Given the description of an element on the screen output the (x, y) to click on. 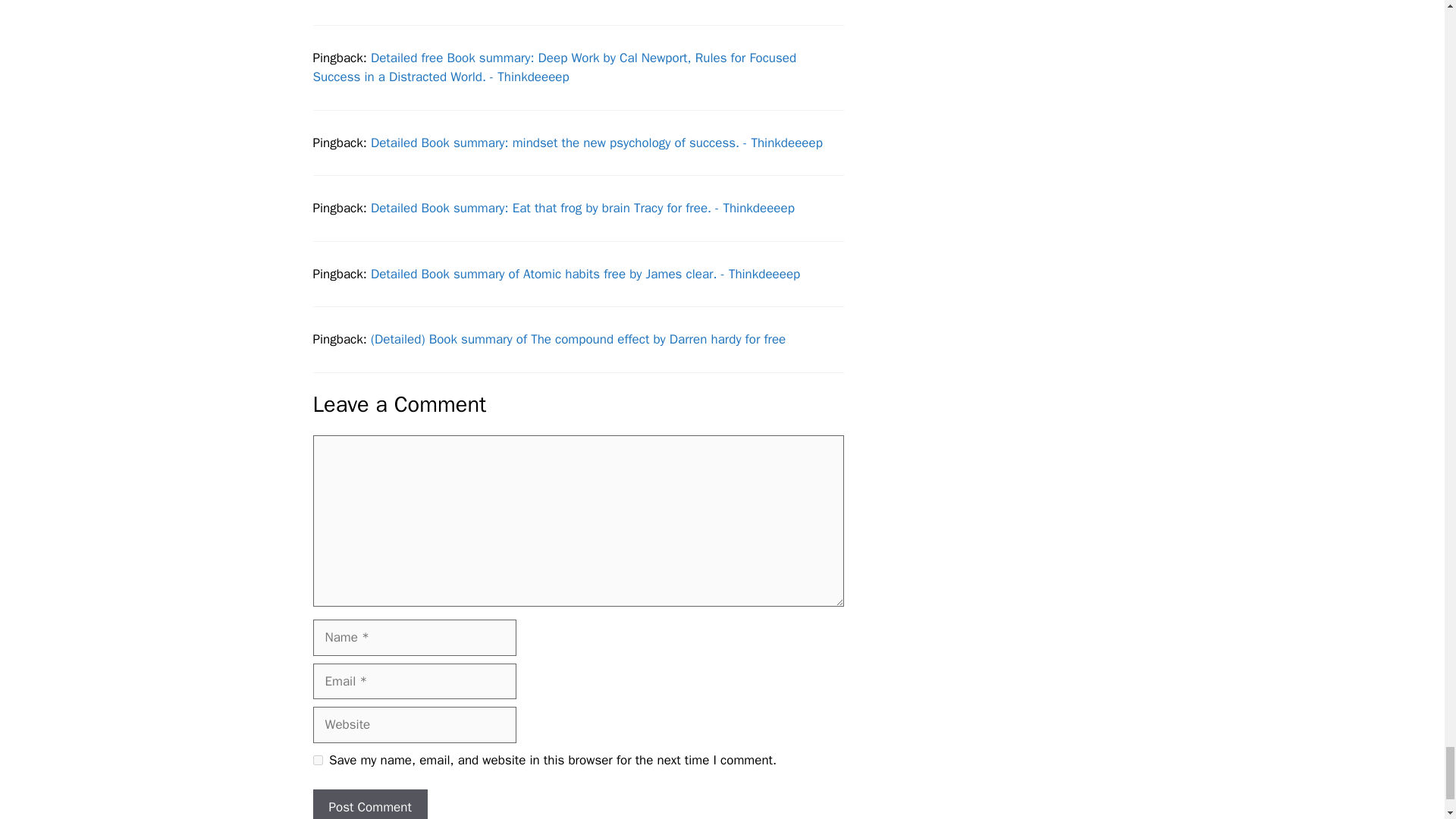
yes (317, 759)
Post Comment (369, 804)
